Given the description of an element on the screen output the (x, y) to click on. 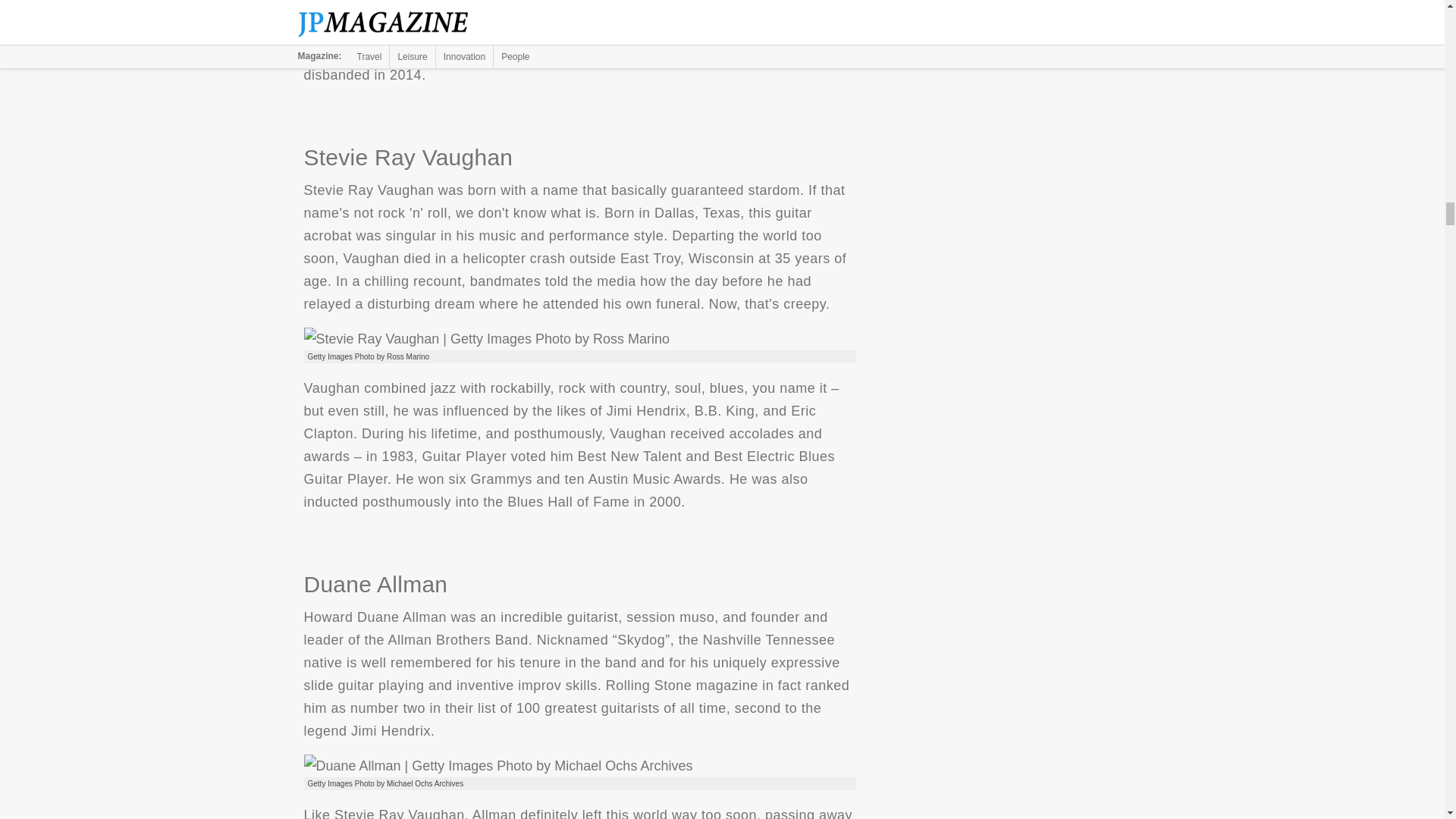
Duane Allman (497, 765)
Stevie Ray Vaughan (485, 338)
